Given the description of an element on the screen output the (x, y) to click on. 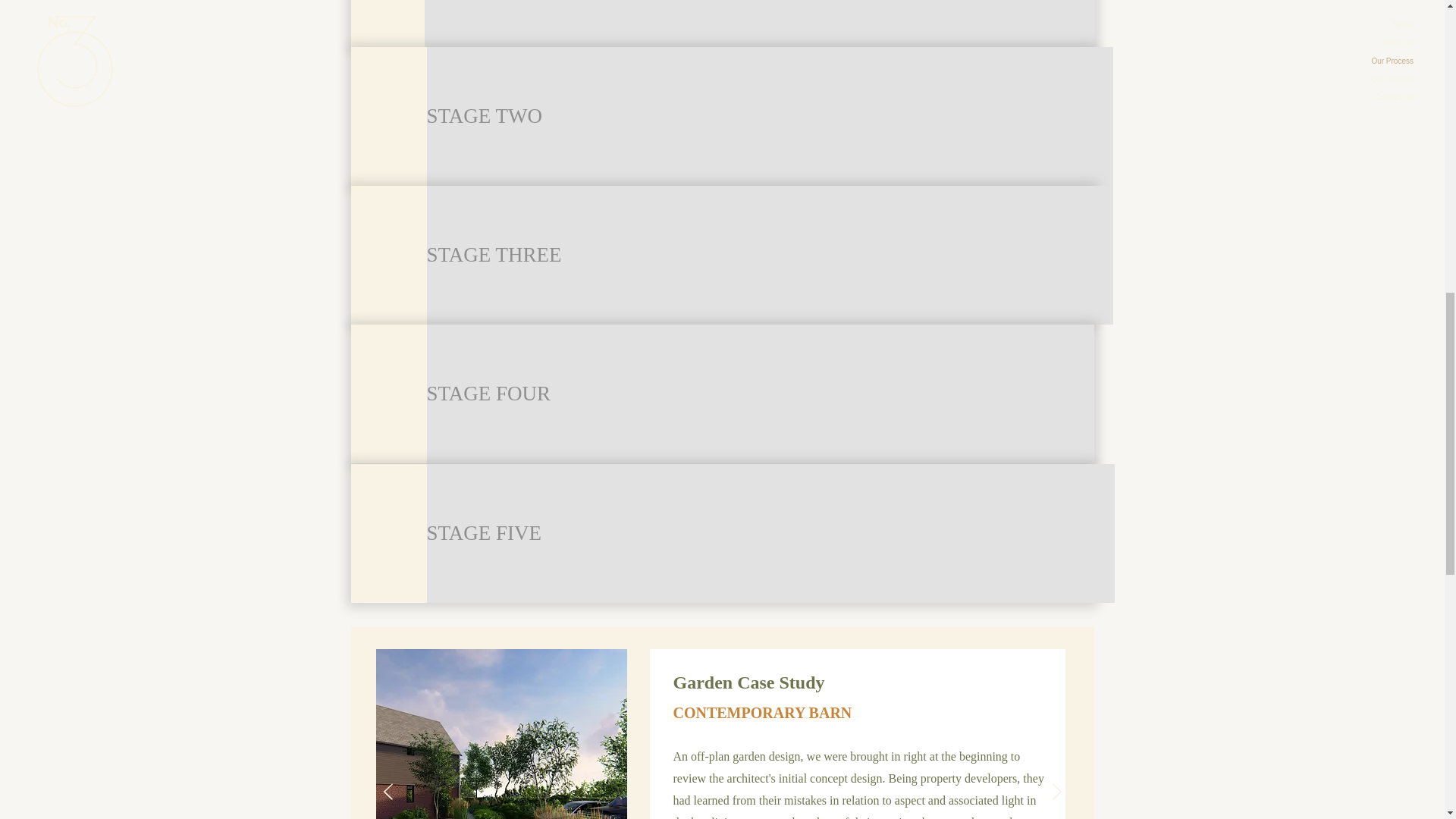
STAGE ONE (759, 23)
STAGE FIVE (769, 533)
STAGE FOUR (759, 393)
STAGE THREE (769, 254)
STAGE TWO (769, 115)
